Given the description of an element on the screen output the (x, y) to click on. 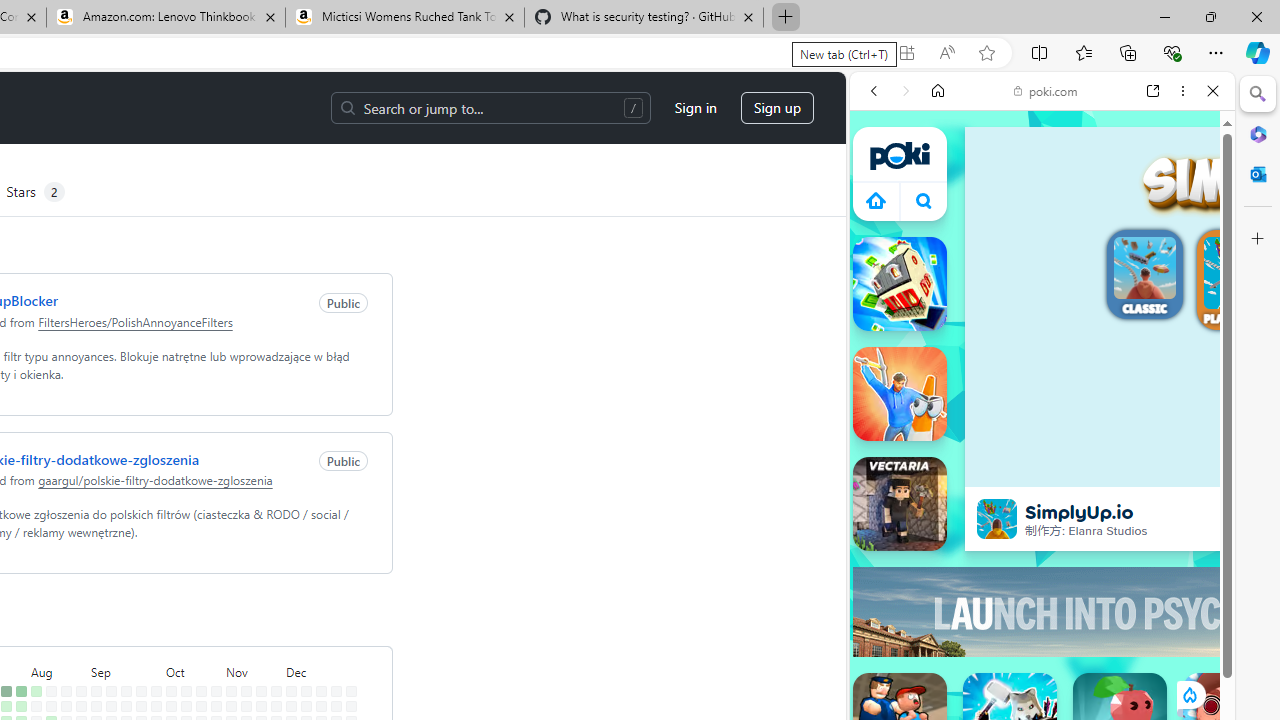
Shooting Games (1042, 518)
August (58, 670)
SEARCH TOOLS (1093, 228)
Class: b_serphb (1190, 229)
SimplyUp.io (996, 518)
No contributions on October 7th. (171, 706)
September (126, 670)
gaargul/polskie-filtry-dodatkowe-zgloszenia (155, 480)
No contributions on November 24th. (276, 691)
Simply Prop Hunt (899, 393)
10 contributions on July 21st. (6, 691)
No contributions on November 17th. (261, 691)
No contributions on November 3rd. (231, 691)
